Given the description of an element on the screen output the (x, y) to click on. 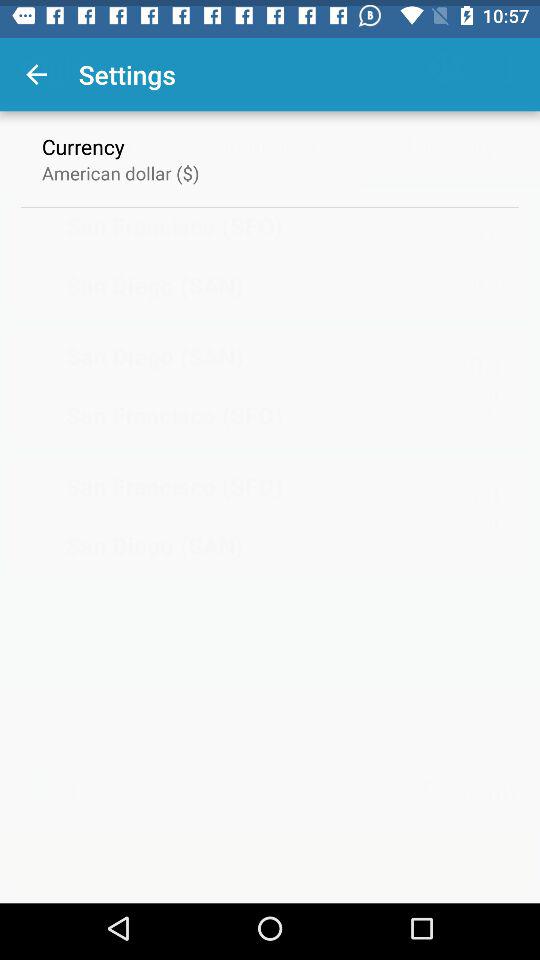
turn off american dollar ($) icon (120, 166)
